Given the description of an element on the screen output the (x, y) to click on. 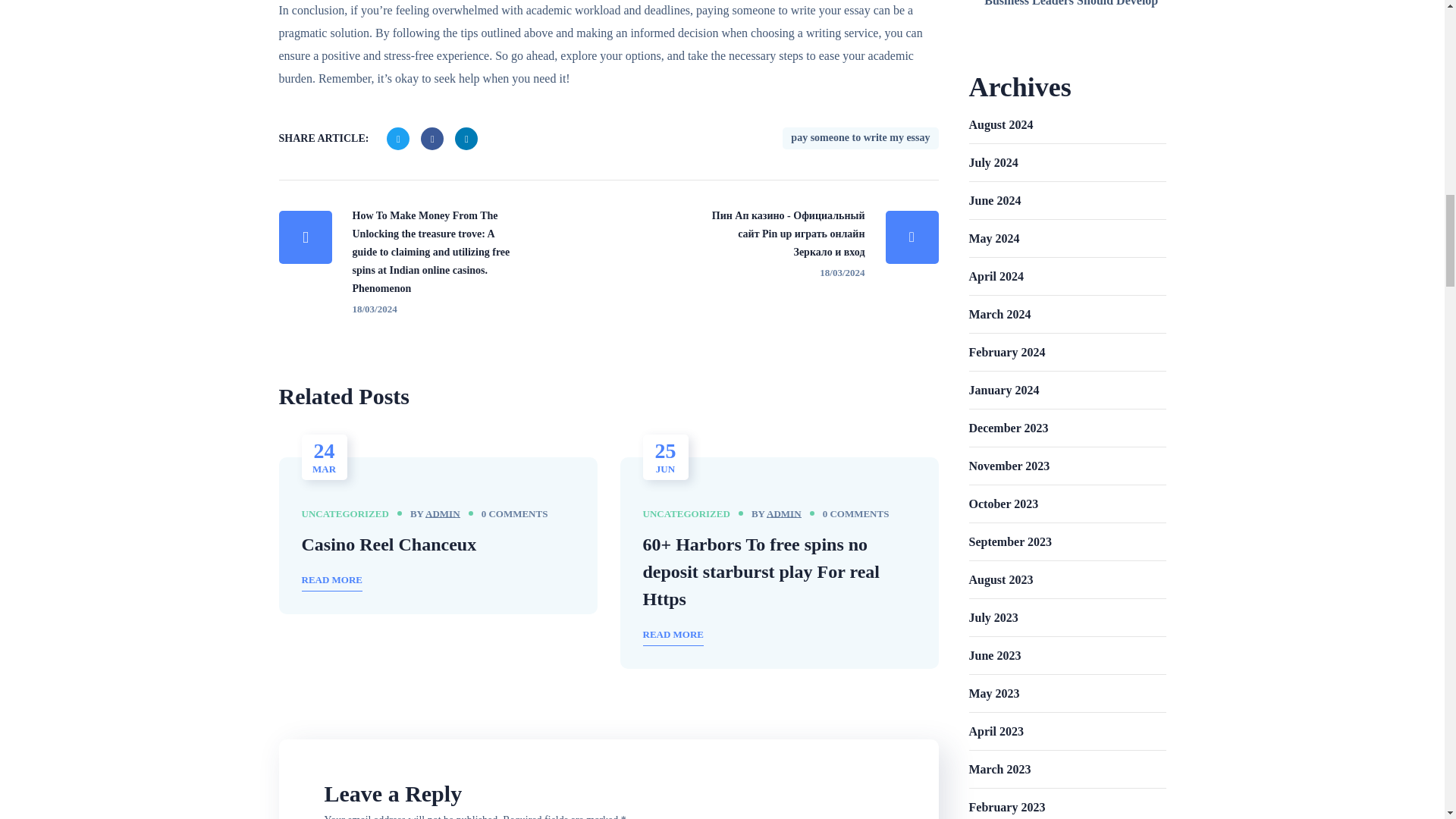
pay someone to write my essay (860, 138)
0 COMMENTS (514, 513)
READ MORE (331, 580)
UNCATEGORIZED (344, 513)
Leave a reply (855, 513)
Casino Reel Chanceux (389, 544)
ADMIN (442, 513)
Leave a reply (514, 513)
